Given the description of an element on the screen output the (x, y) to click on. 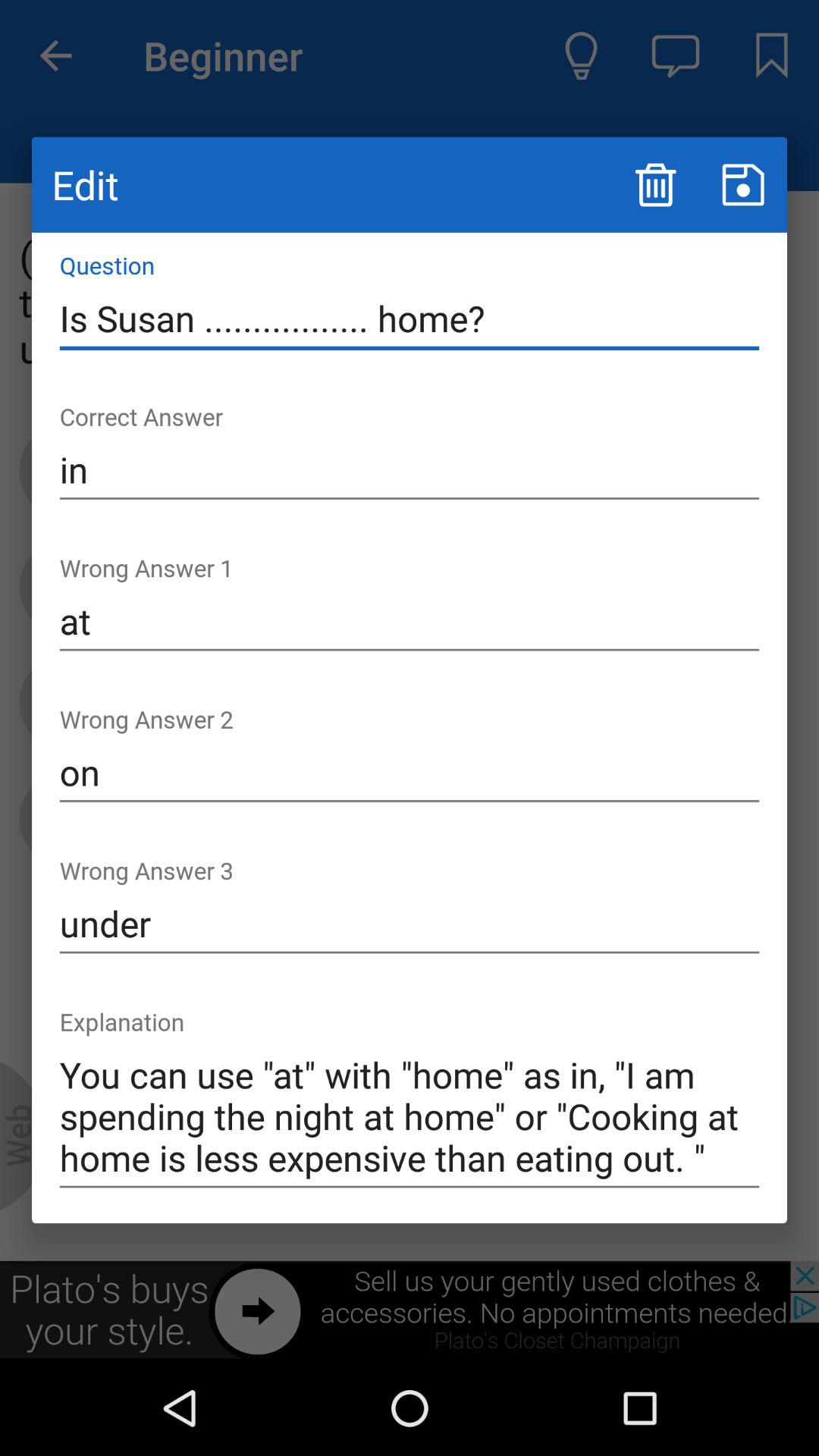
a button for saving content on screen (743, 184)
